Given the description of an element on the screen output the (x, y) to click on. 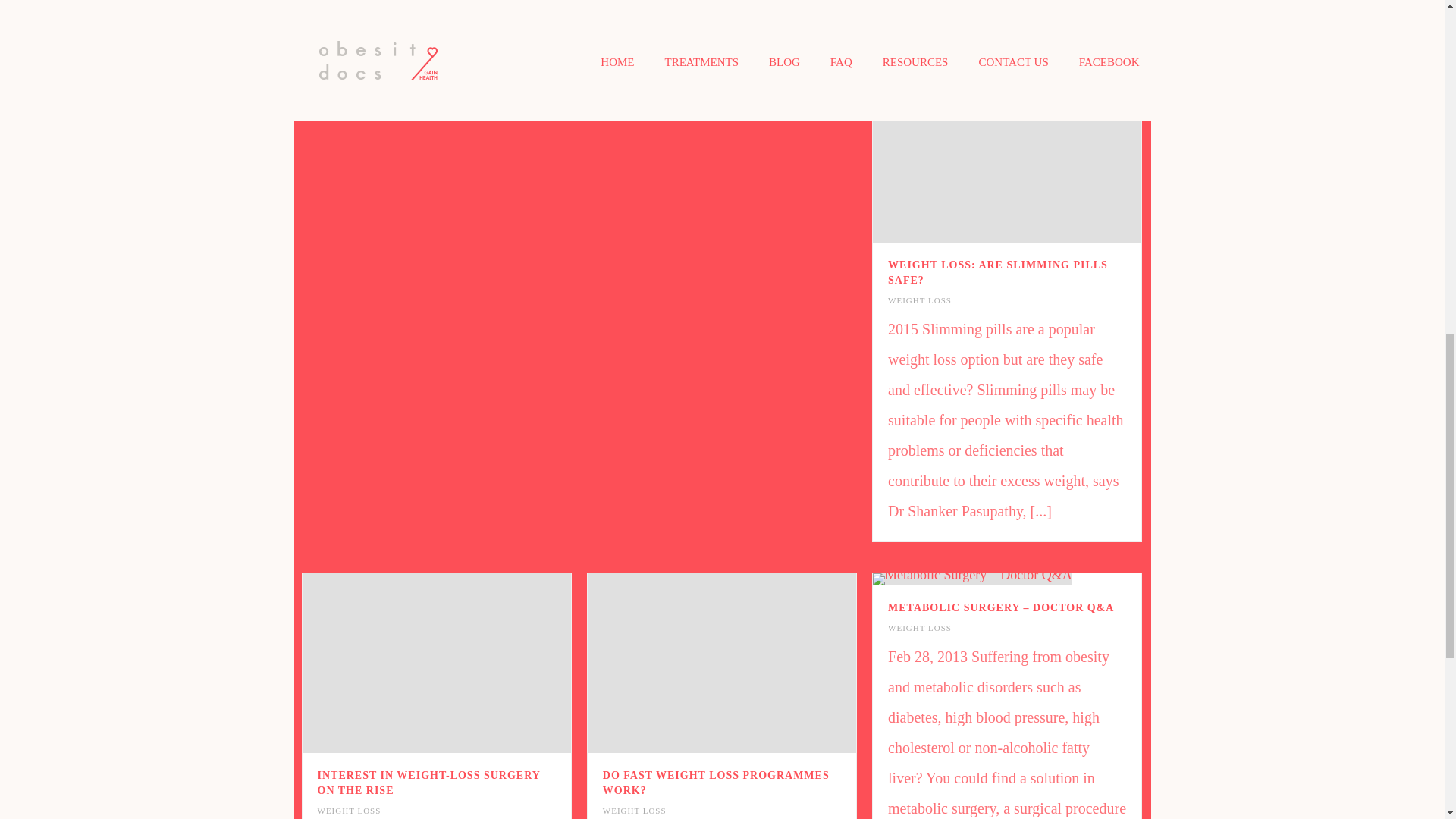
Do fast weight loss programmes work? (722, 662)
WEIGHT LOSS (920, 299)
WEIGHT LOSS: ARE SLIMMING PILLS SAFE? (998, 272)
Interest in weight-loss surgery on the rise (435, 662)
Weight Loss: Are slimming pills safe? (1006, 152)
